Given the description of an element on the screen output the (x, y) to click on. 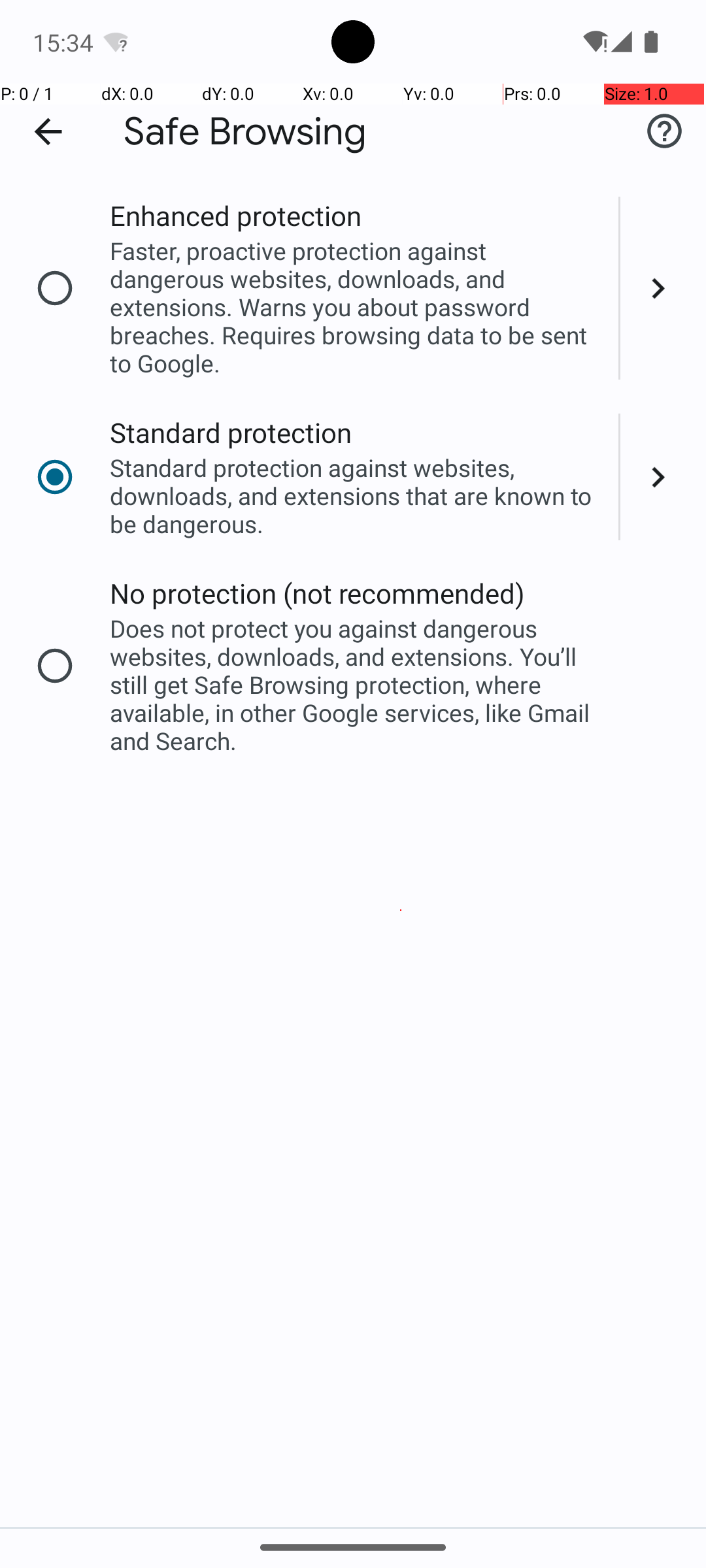
Safe Browsing Element type: android.widget.TextView (244, 131)
Enhanced protection Element type: android.widget.TextView (235, 214)
Faster, proactive protection against dangerous websites, downloads, and extensions. Warns you about password breaches. Requires browsing data to be sent to Google. Element type: android.widget.TextView (355, 306)
Standard protection Element type: android.widget.TextView (230, 431)
Standard protection against websites, downloads, and extensions that are known to be dangerous. Element type: android.widget.TextView (355, 495)
No protection (not recommended) Element type: android.widget.TextView (317, 592)
Does not protect you against dangerous websites, downloads, and extensions. You’ll still get Safe Browsing protection, where available, in other Google services, like Gmail and Search. Element type: android.widget.TextView (355, 684)
